Given the description of an element on the screen output the (x, y) to click on. 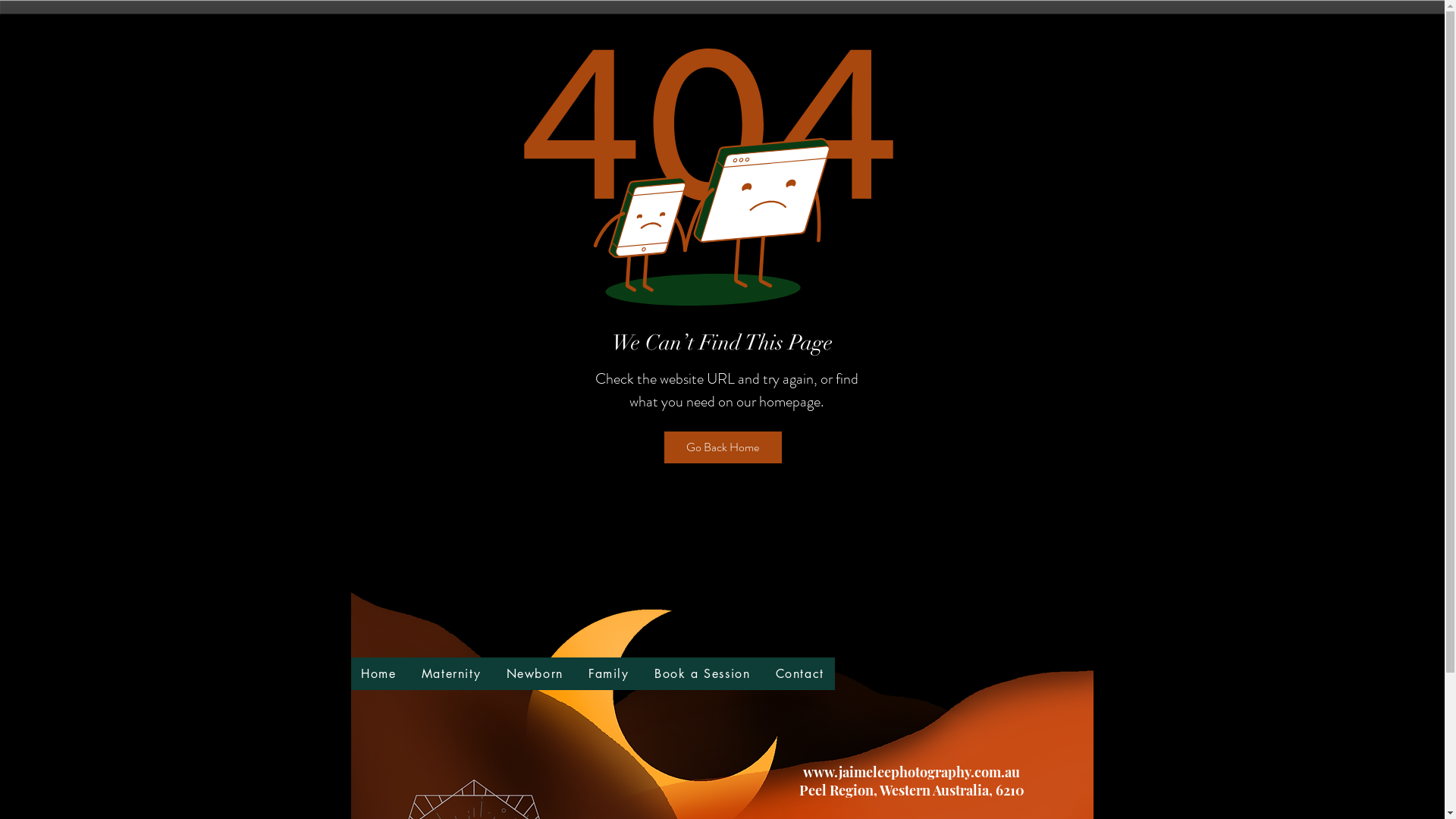
www.jaimeleephotography.com.au Element type: text (911, 771)
Newborn Element type: text (534, 673)
Family Element type: text (608, 673)
Home Element type: text (378, 673)
Book a Session Element type: text (701, 673)
Contact Element type: text (799, 673)
Maternity Element type: text (450, 673)
Go Back Home Element type: text (722, 447)
